Given the description of an element on the screen output the (x, y) to click on. 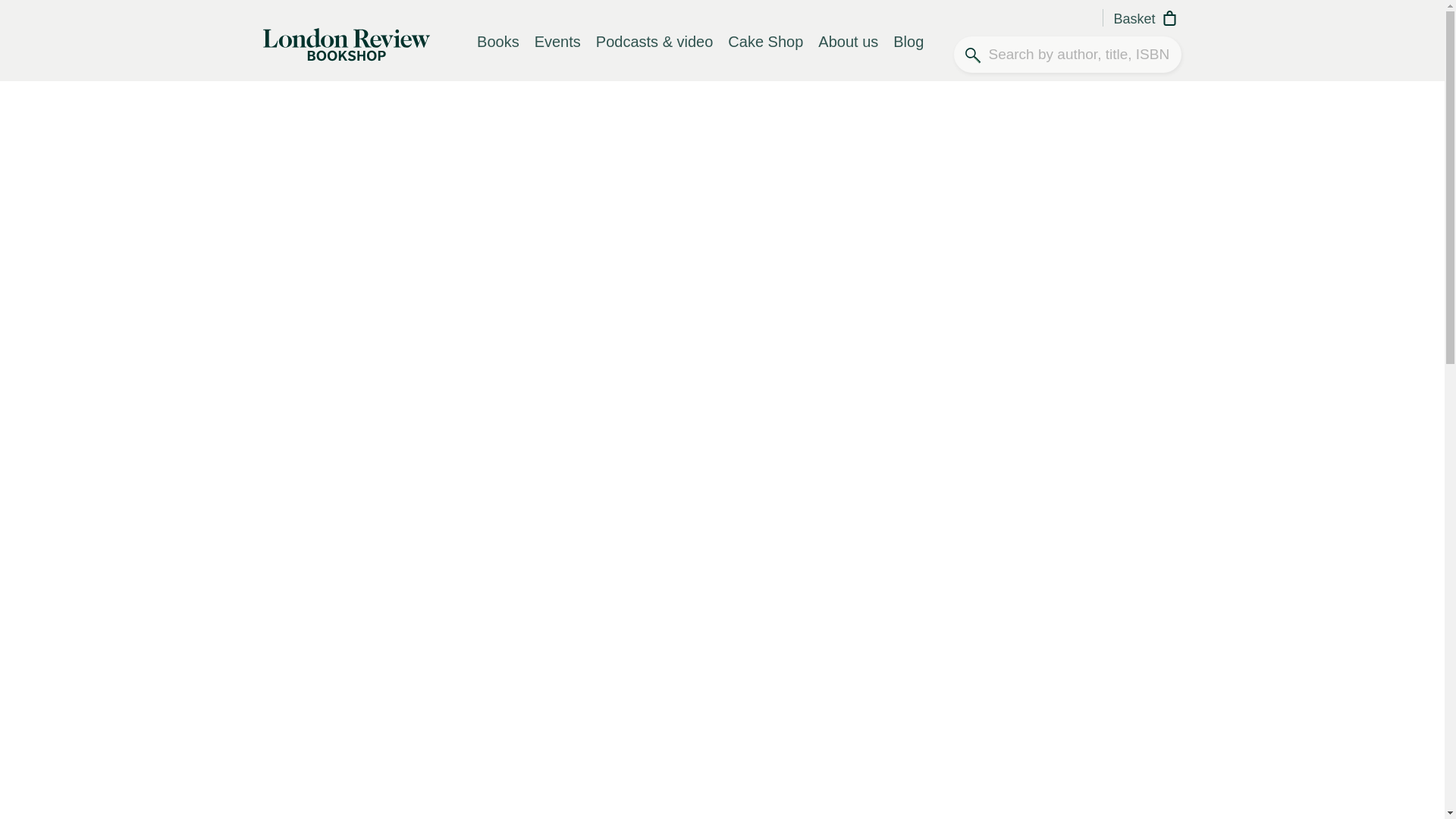
Cake Shop (765, 54)
Books (497, 54)
Submit (1234, 40)
Events (557, 54)
London Review Bookshop (345, 42)
Basket (1146, 19)
About us (847, 54)
